Given the description of an element on the screen output the (x, y) to click on. 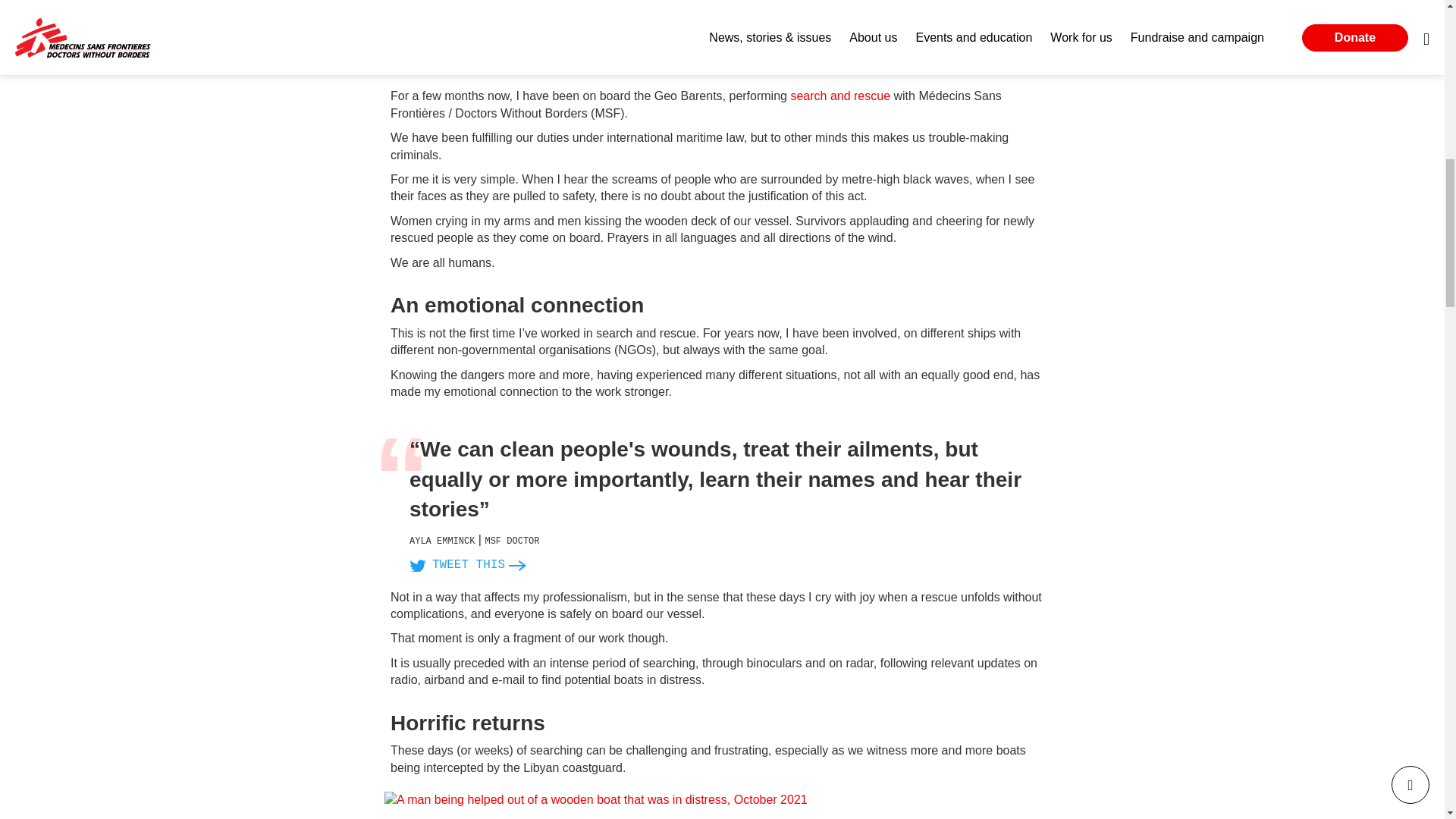
ABOUT ME (515, 17)
